Given the description of an element on the screen output the (x, y) to click on. 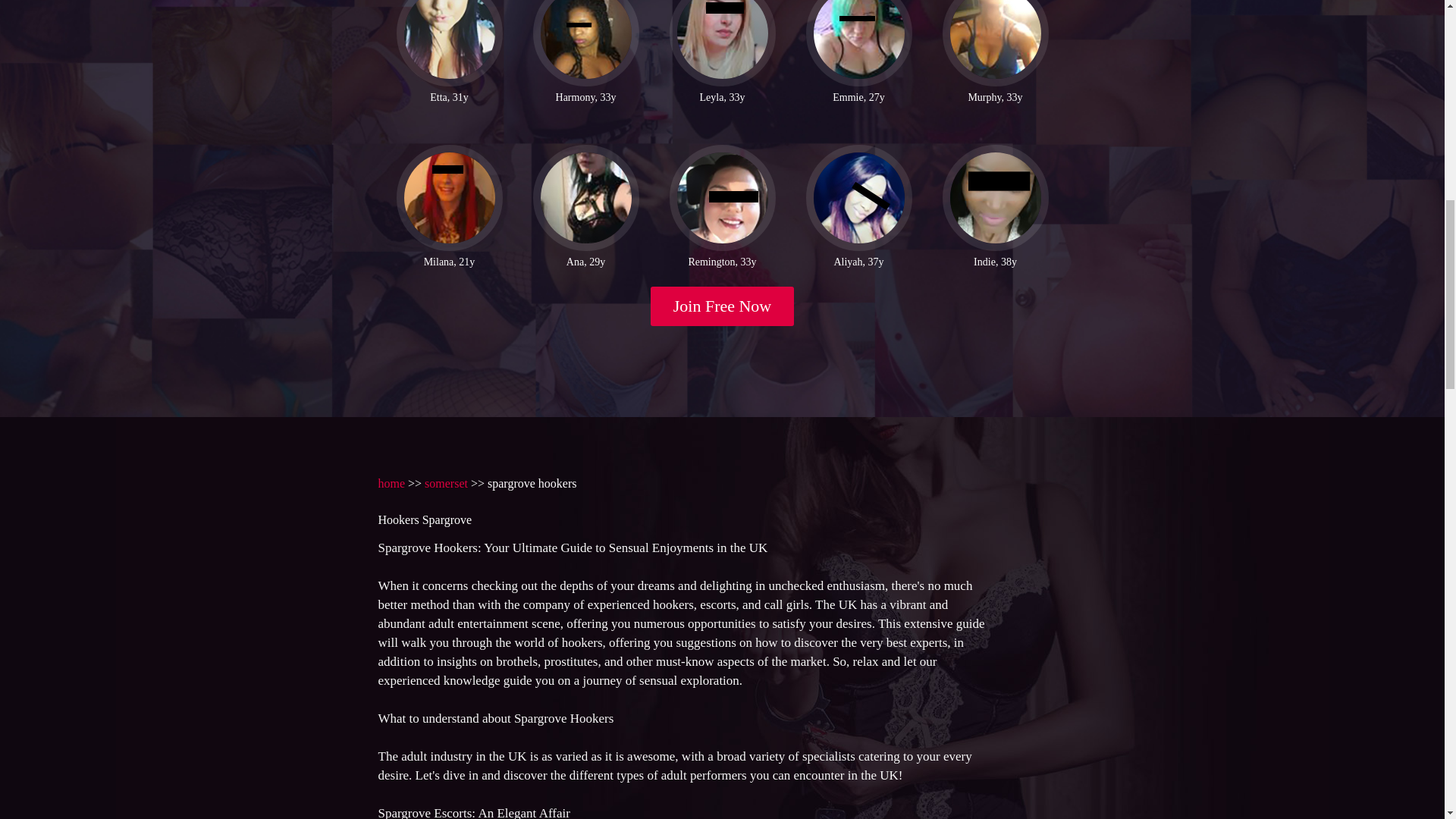
Join (722, 305)
somerset (446, 482)
home (390, 482)
Join Free Now (722, 305)
